Given the description of an element on the screen output the (x, y) to click on. 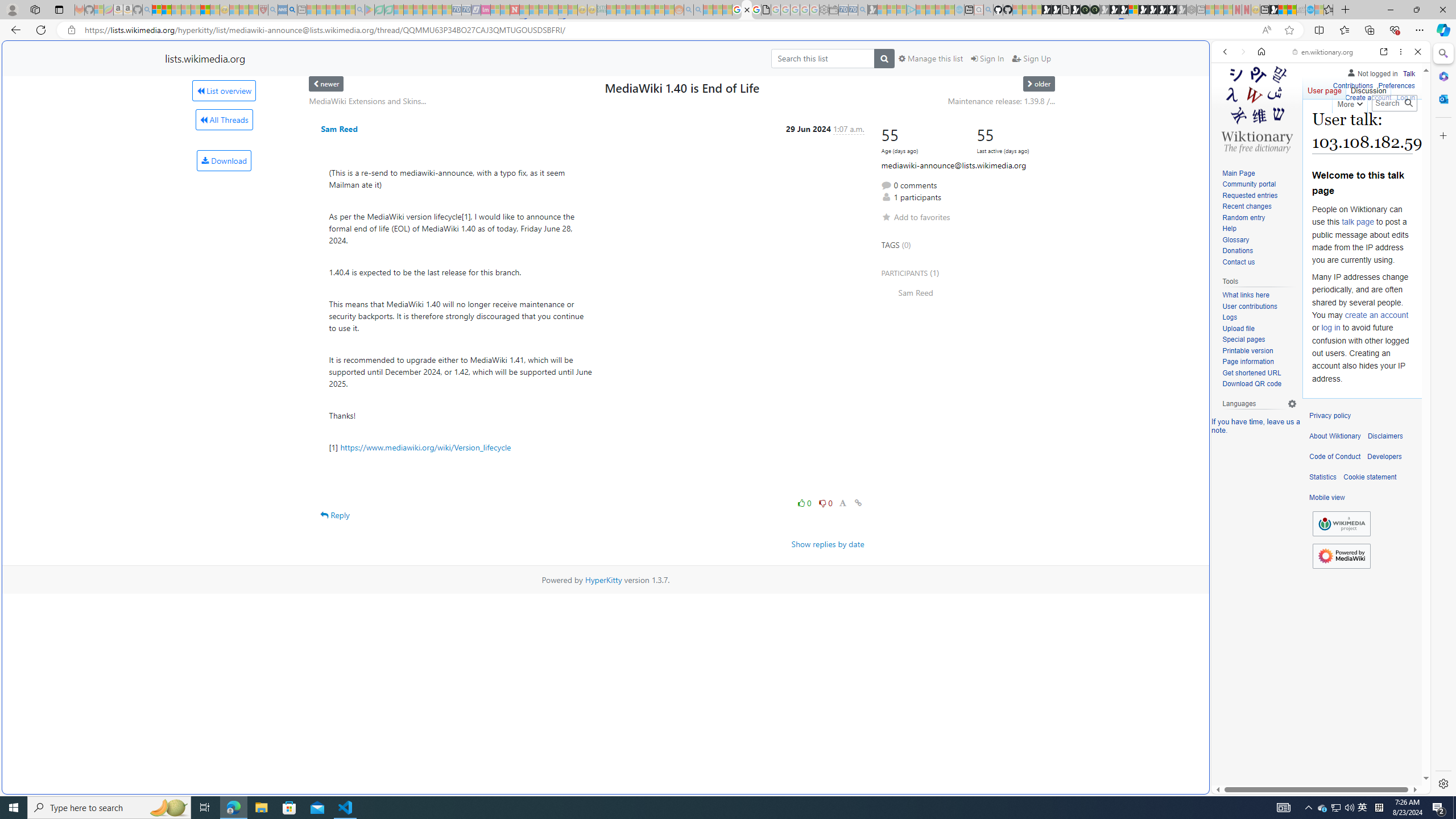
User contributions (1259, 306)
Statistics (1322, 477)
Play Cave FRVR in your browser | Games from Microsoft Start (1114, 9)
World - MSN (1283, 9)
Main Page (1238, 172)
